Given the description of an element on the screen output the (x, y) to click on. 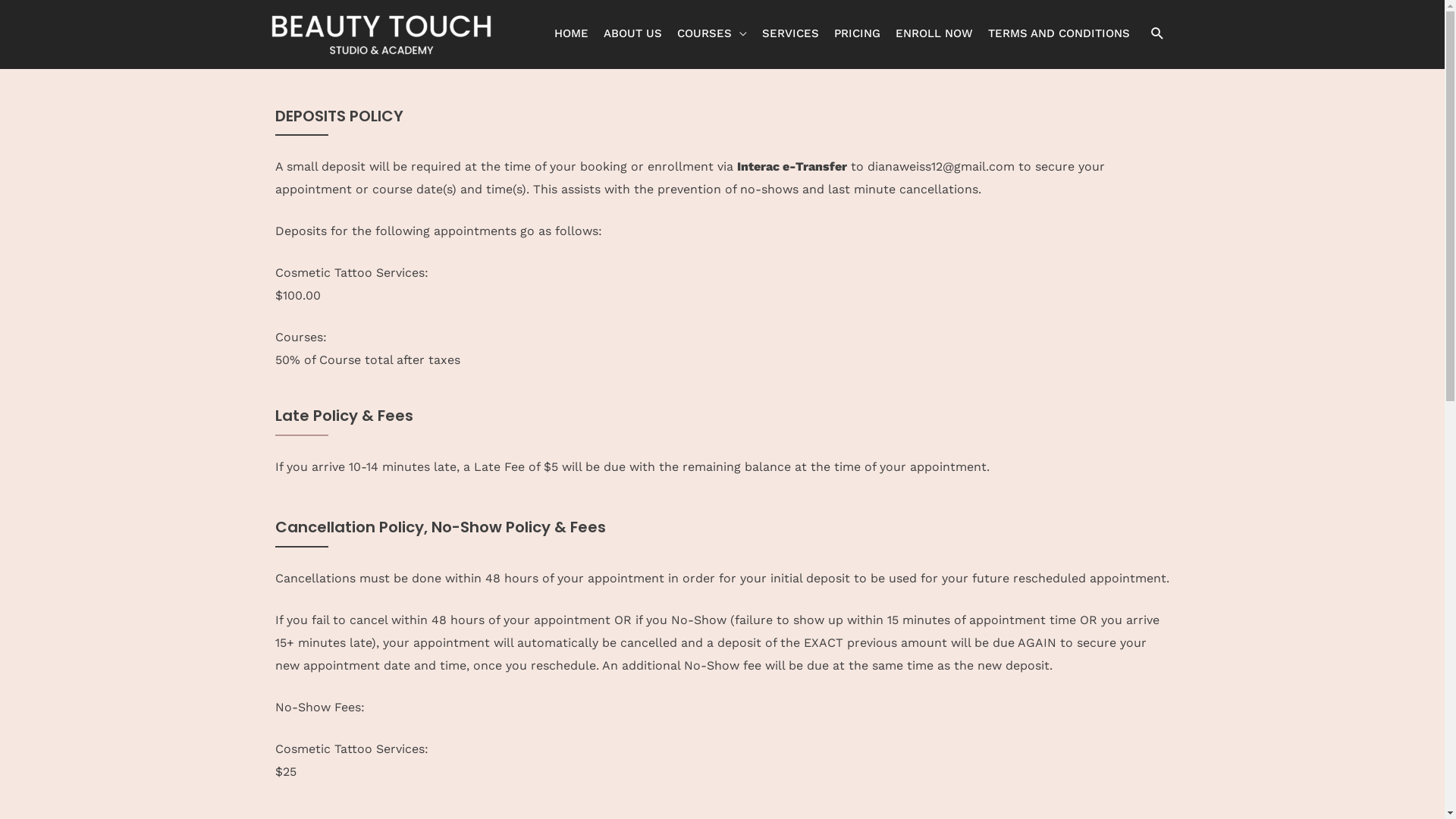
PRICING Element type: text (857, 33)
SERVICES Element type: text (789, 33)
COURSES Element type: text (710, 33)
HOME Element type: text (570, 33)
ABOUT US Element type: text (632, 33)
ENROLL NOW Element type: text (933, 33)
TERMS AND CONDITIONS Element type: text (1057, 33)
